Given the description of an element on the screen output the (x, y) to click on. 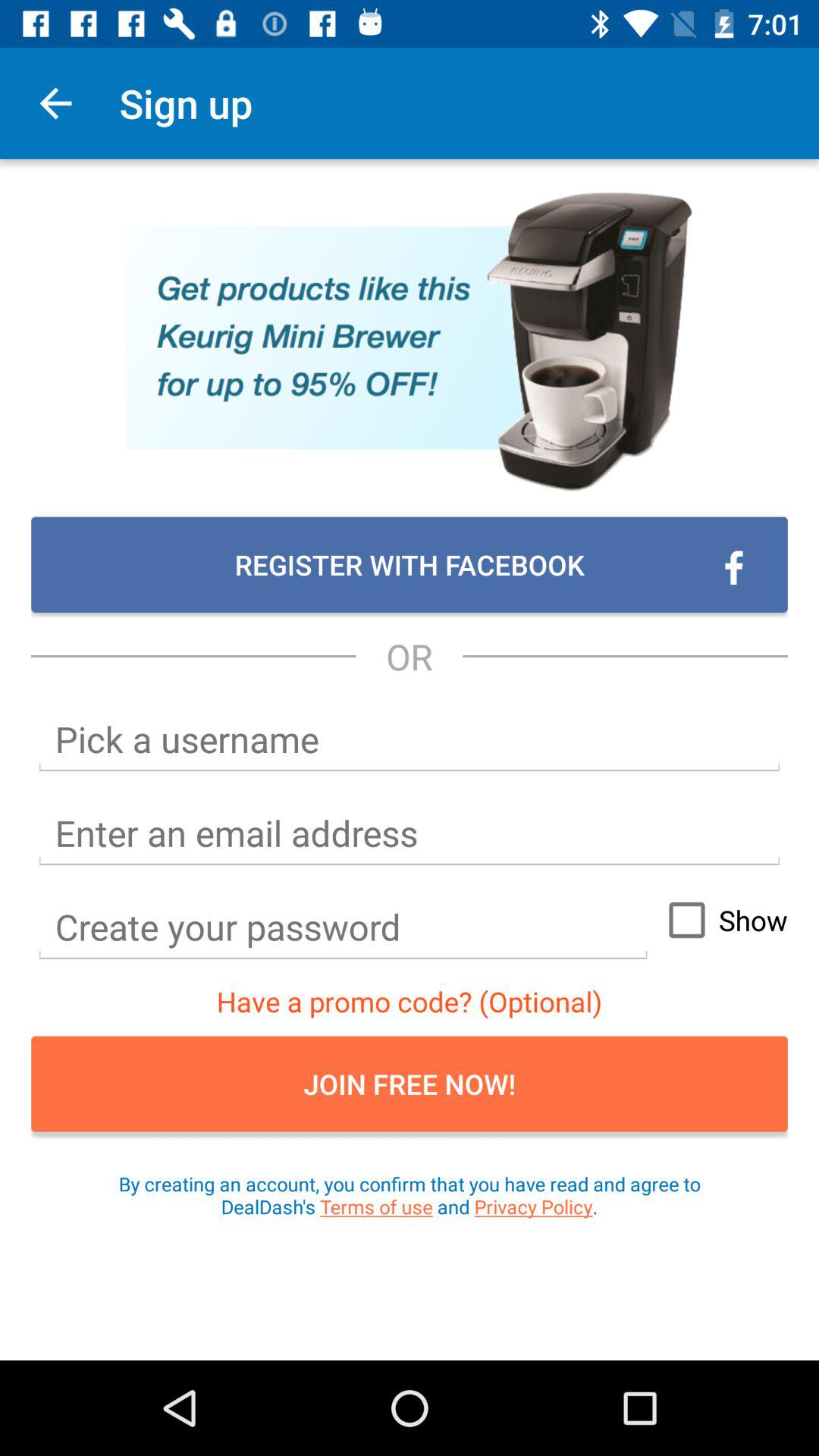
click app next to sign up icon (55, 103)
